Given the description of an element on the screen output the (x, y) to click on. 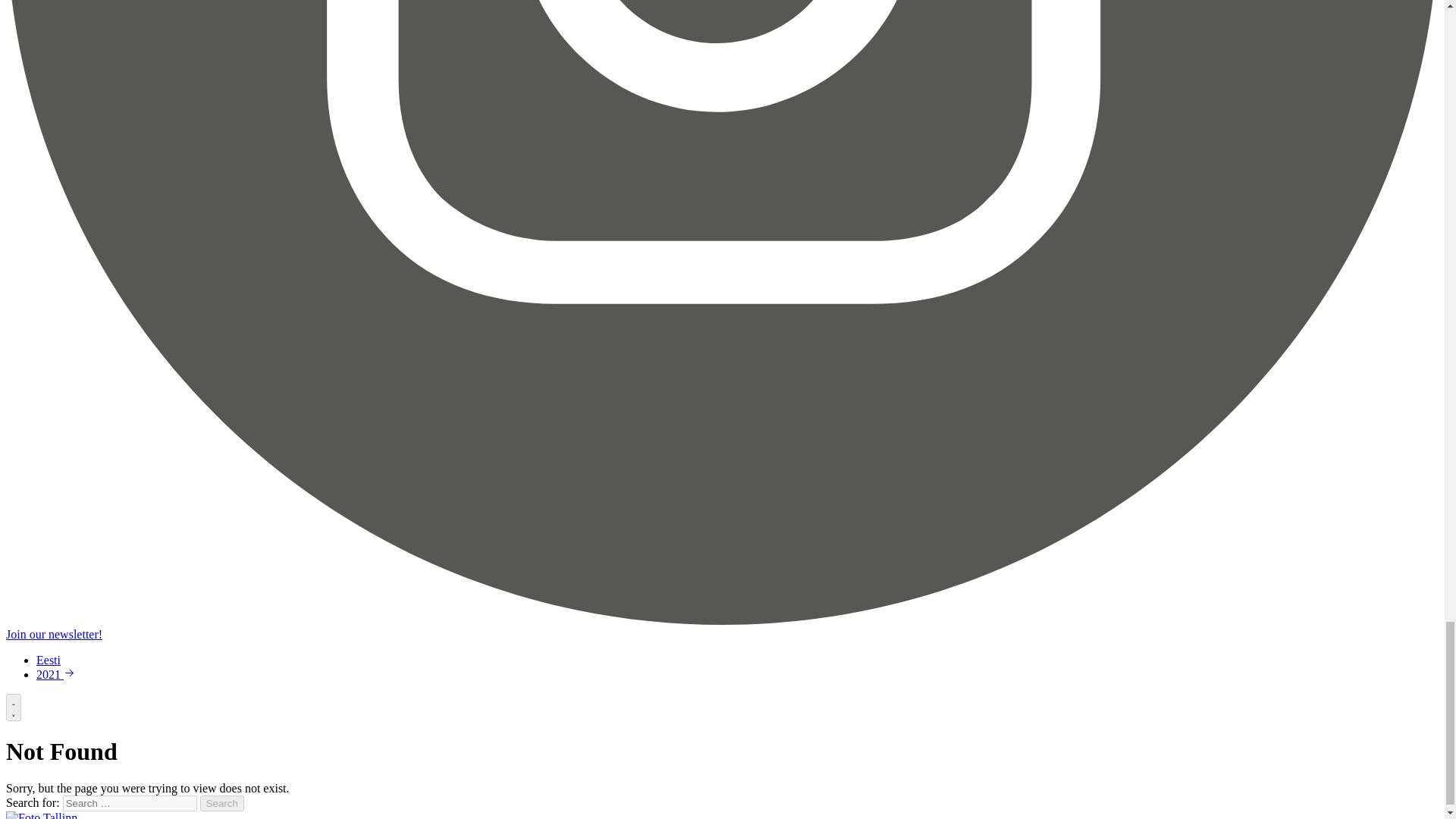
Search (222, 803)
2021 (55, 674)
Join our newsletter! (53, 634)
Eesti (48, 659)
Search (222, 803)
Search (222, 803)
